Given the description of an element on the screen output the (x, y) to click on. 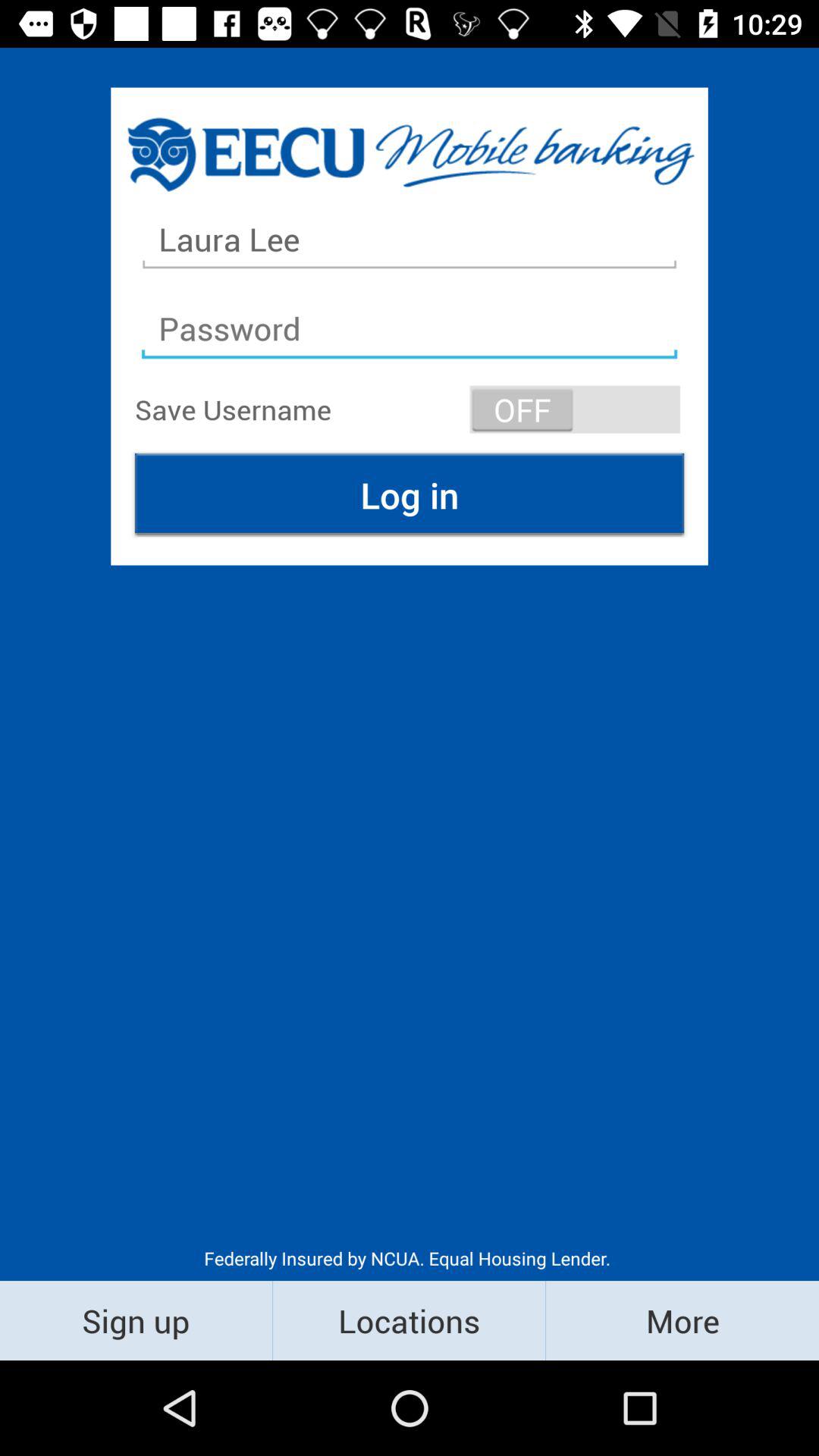
tap the laura lee (409, 239)
